Given the description of an element on the screen output the (x, y) to click on. 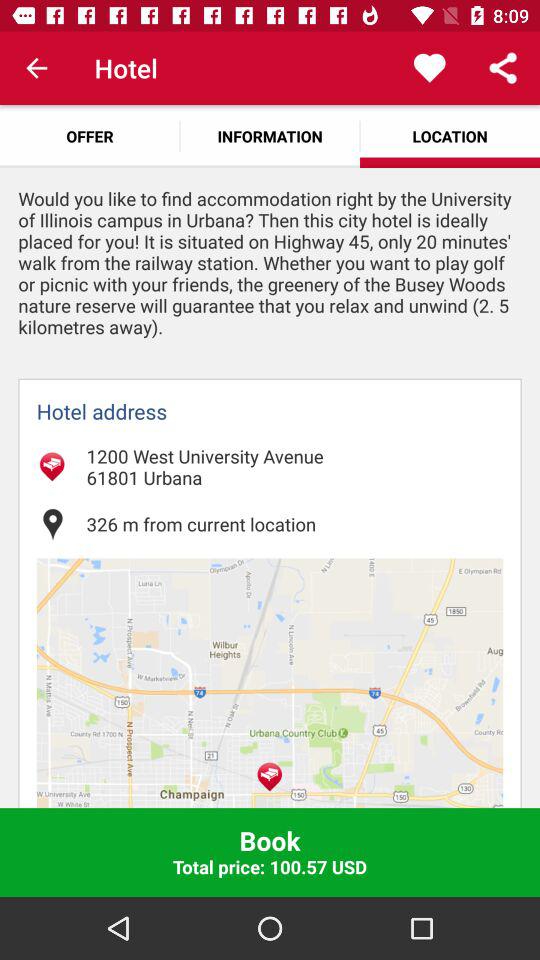
swipe to the information icon (270, 136)
